Given the description of an element on the screen output the (x, y) to click on. 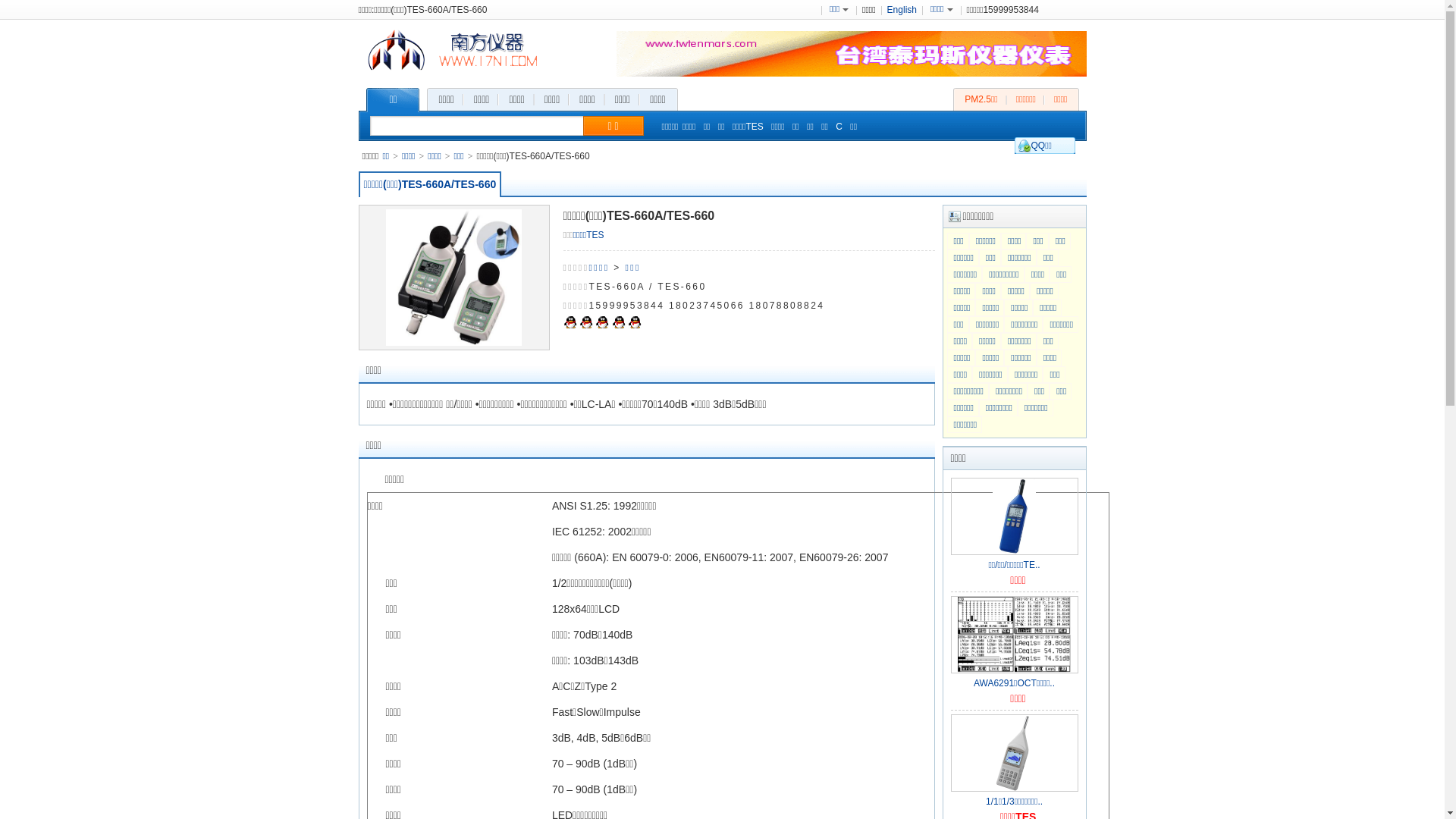
English Element type: text (901, 9)
C Element type: text (840, 126)
